Given the description of an element on the screen output the (x, y) to click on. 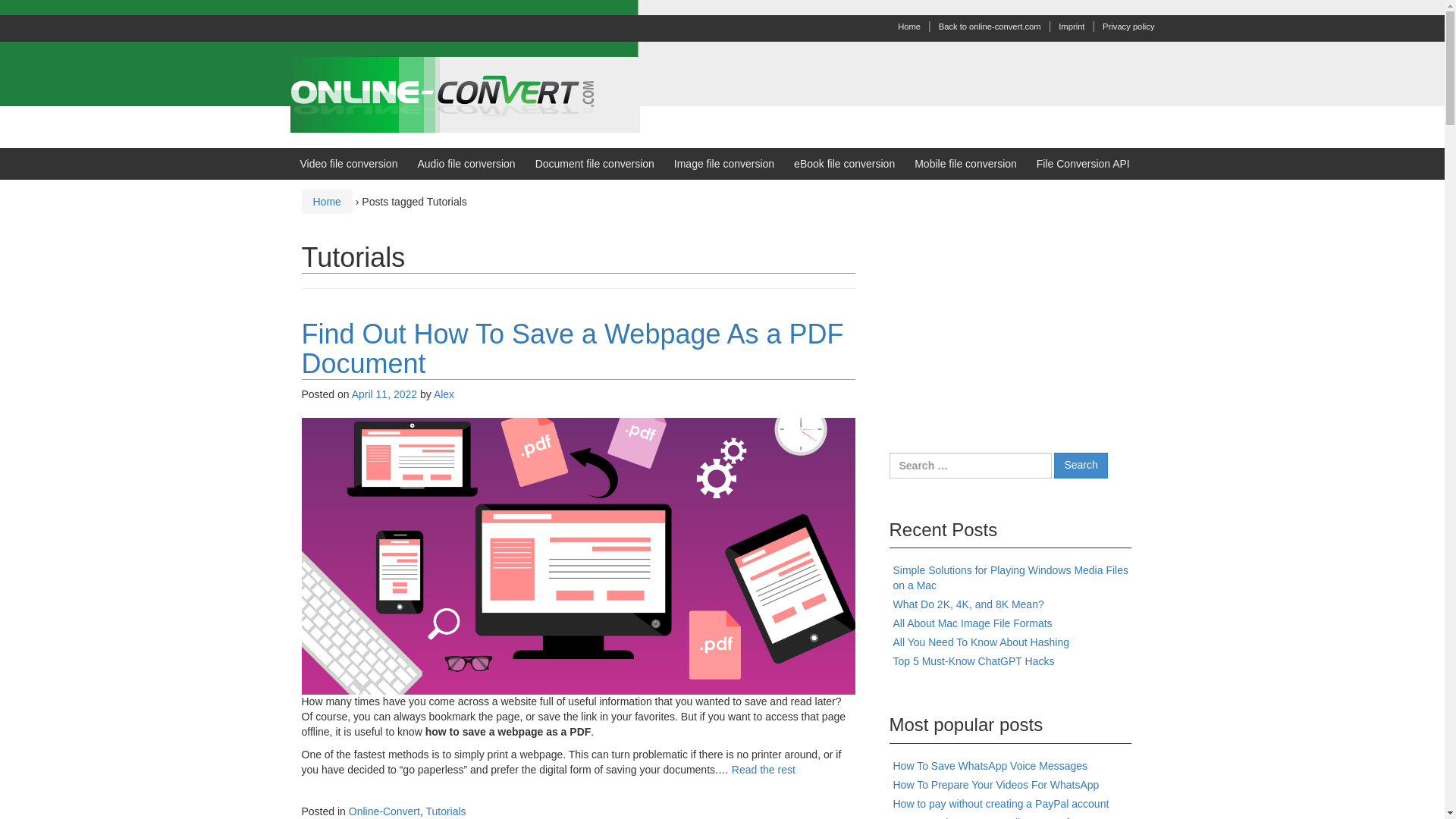
Alex (443, 394)
Privacy policy (1128, 26)
Audio file conversion (465, 163)
Tutorials (445, 811)
View all posts by Alex (443, 394)
Read the rest (763, 769)
Find Out How To Save a Webpage As a PDF Document (572, 349)
Search (1080, 465)
Online-Convert (384, 811)
Online file conversion blog (464, 93)
Imprint (1071, 26)
Find Out How To Save a Webpage As a PDF Document (578, 554)
Search (1080, 465)
File Conversion API (1082, 163)
Back to online-convert.com (990, 26)
